Given the description of an element on the screen output the (x, y) to click on. 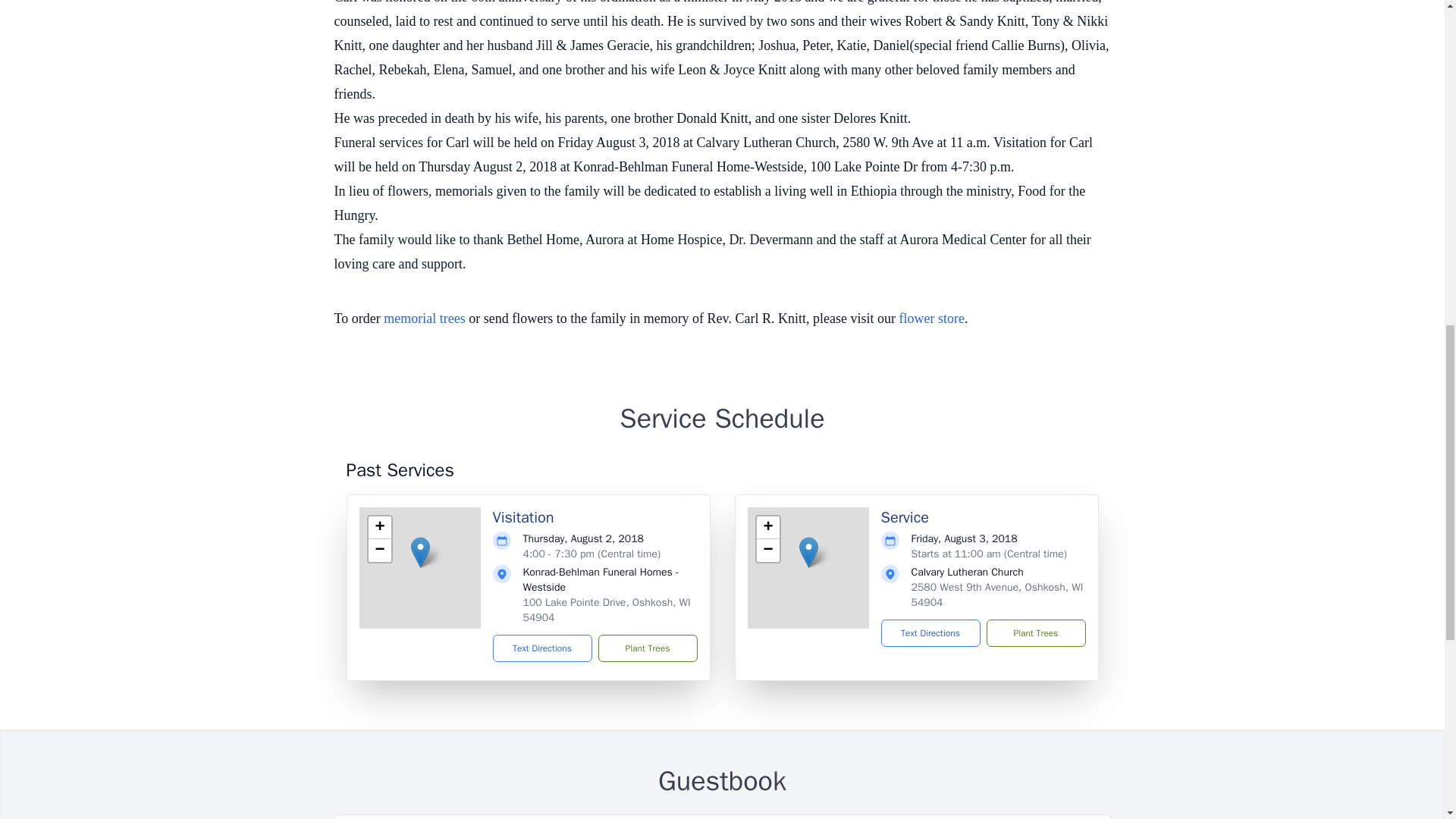
2580 West 9th Avenue, Oshkosh, WI 54904 (997, 594)
Zoom out (767, 549)
Plant Trees (646, 647)
Zoom in (767, 527)
100 Lake Pointe Drive, Oshkosh, WI 54904 (606, 610)
Plant Trees (1034, 633)
flower store (930, 318)
Text Directions (929, 633)
Zoom in (379, 527)
Text Directions (542, 647)
memorial trees (424, 318)
Zoom out (379, 549)
